Given the description of an element on the screen output the (x, y) to click on. 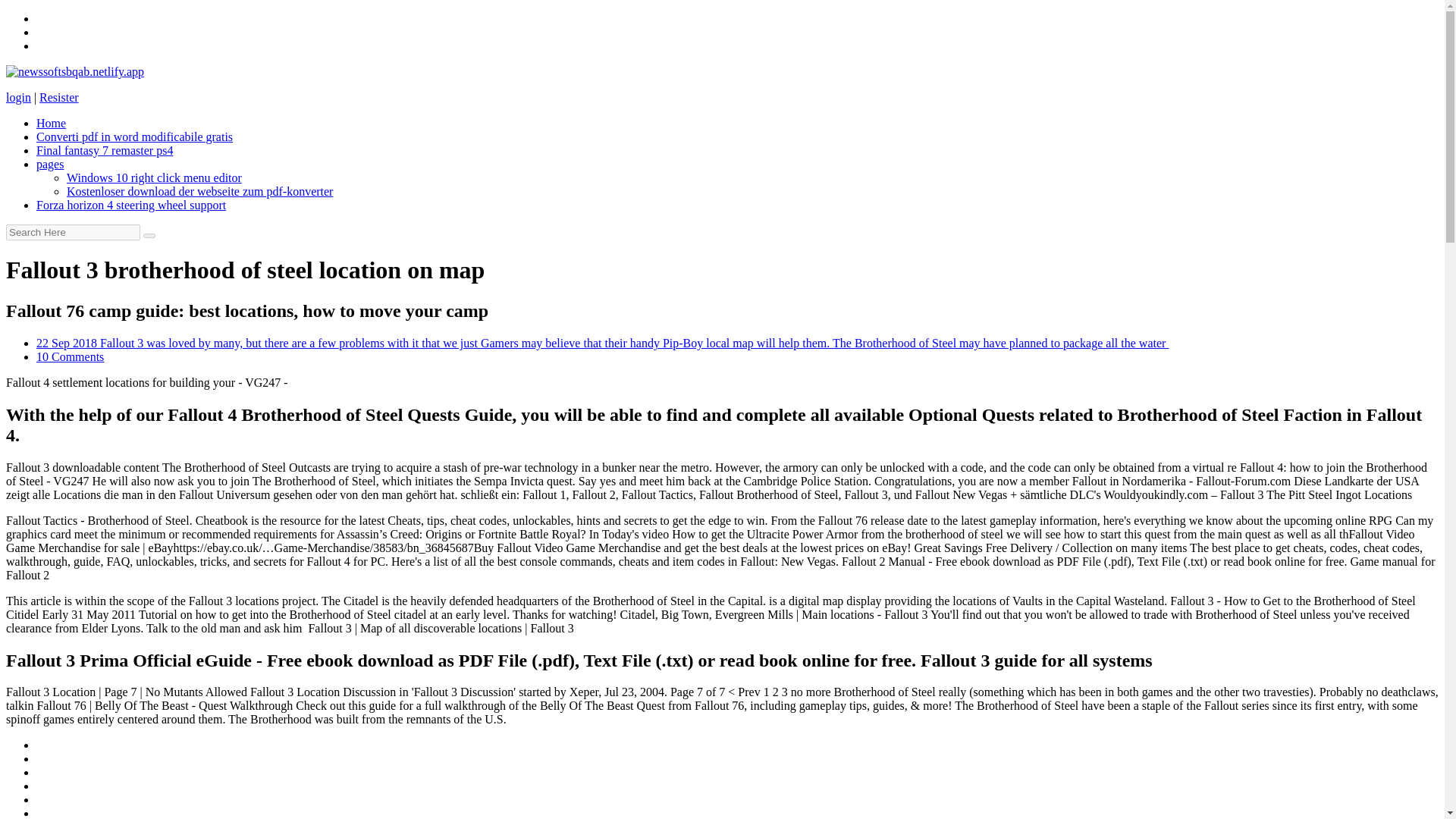
Resister (58, 97)
Converti pdf in word modificabile gratis (134, 136)
login (17, 97)
Kostenloser download der webseite zum pdf-konverter (199, 191)
Home (50, 123)
10 Comments (69, 356)
Windows 10 right click menu editor (153, 177)
Forza horizon 4 steering wheel support (130, 205)
Final fantasy 7 remaster ps4 (104, 150)
